Given the description of an element on the screen output the (x, y) to click on. 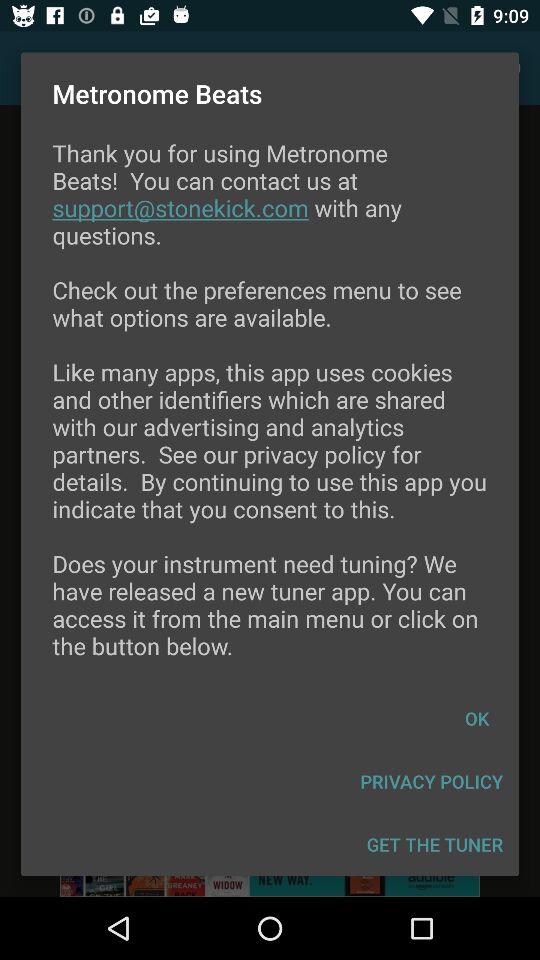
tap the get the tuner icon (434, 844)
